Given the description of an element on the screen output the (x, y) to click on. 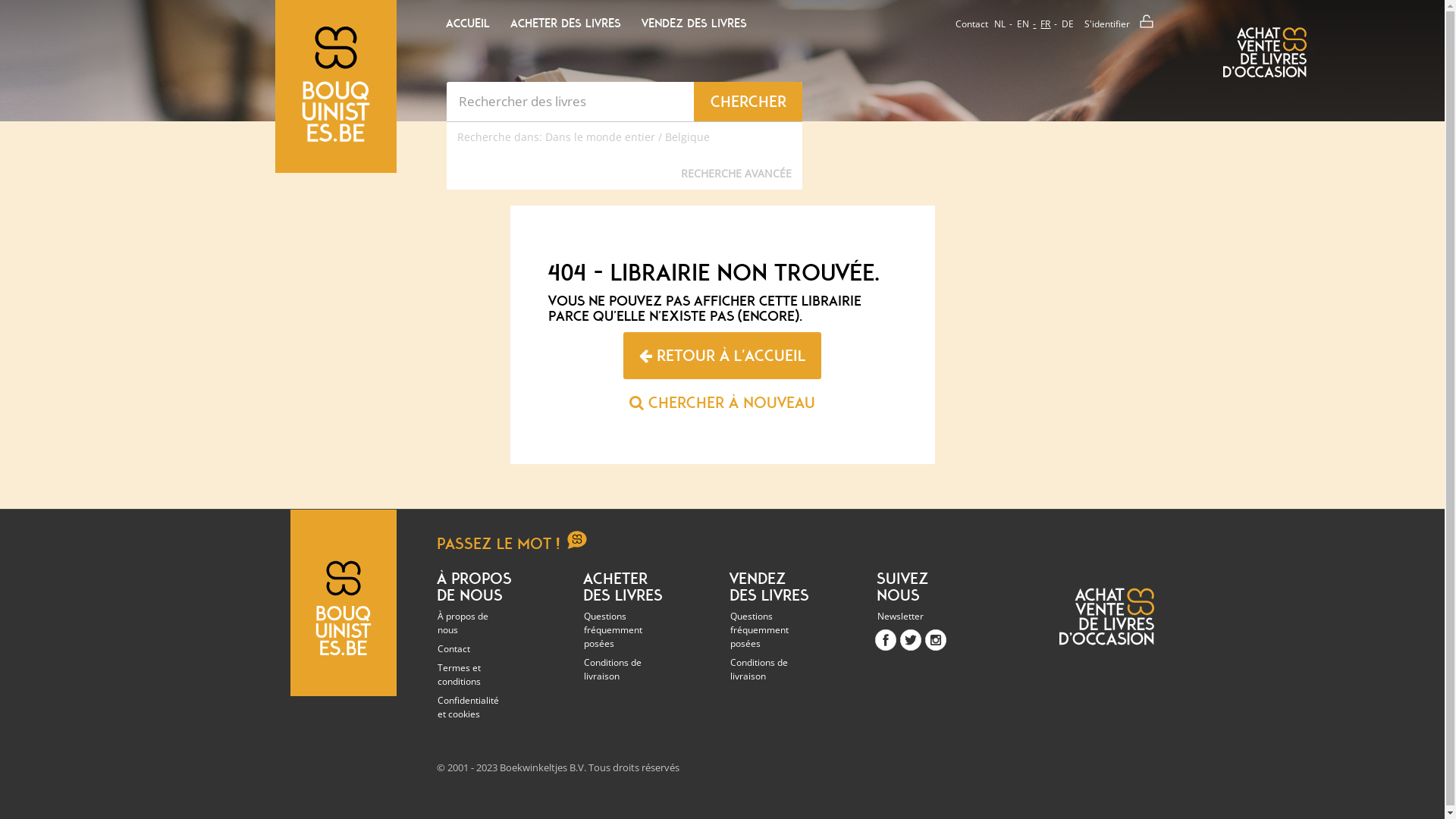
Acheter des livres Element type: text (565, 23)
Acheter des livres Element type: text (622, 586)
Conditions de livraison Element type: text (770, 668)
FR Element type: text (1039, 24)
Vendez des livres Element type: text (694, 23)
Facebook Boekwinkeltjes.nl Element type: hover (885, 639)
Conditions de livraison Element type: text (624, 668)
EN Element type: text (1016, 24)
Termes et conditions Element type: text (477, 674)
DE Element type: text (1061, 24)
Home Element type: hover (335, 136)
S'identifier Element type: text (1116, 17)
NL Element type: text (999, 24)
Newsletter Element type: text (917, 615)
Vendez des livres Element type: text (769, 586)
Contact Element type: text (969, 23)
Instagram Boekwinkeltjes Element type: hover (935, 639)
Chercher Element type: text (747, 101)
Contact Element type: text (477, 648)
Twitter Boekwinkeltjes Element type: hover (910, 639)
Passez le mot ! Element type: text (523, 531)
Accueil Element type: text (467, 23)
